Given the description of an element on the screen output the (x, y) to click on. 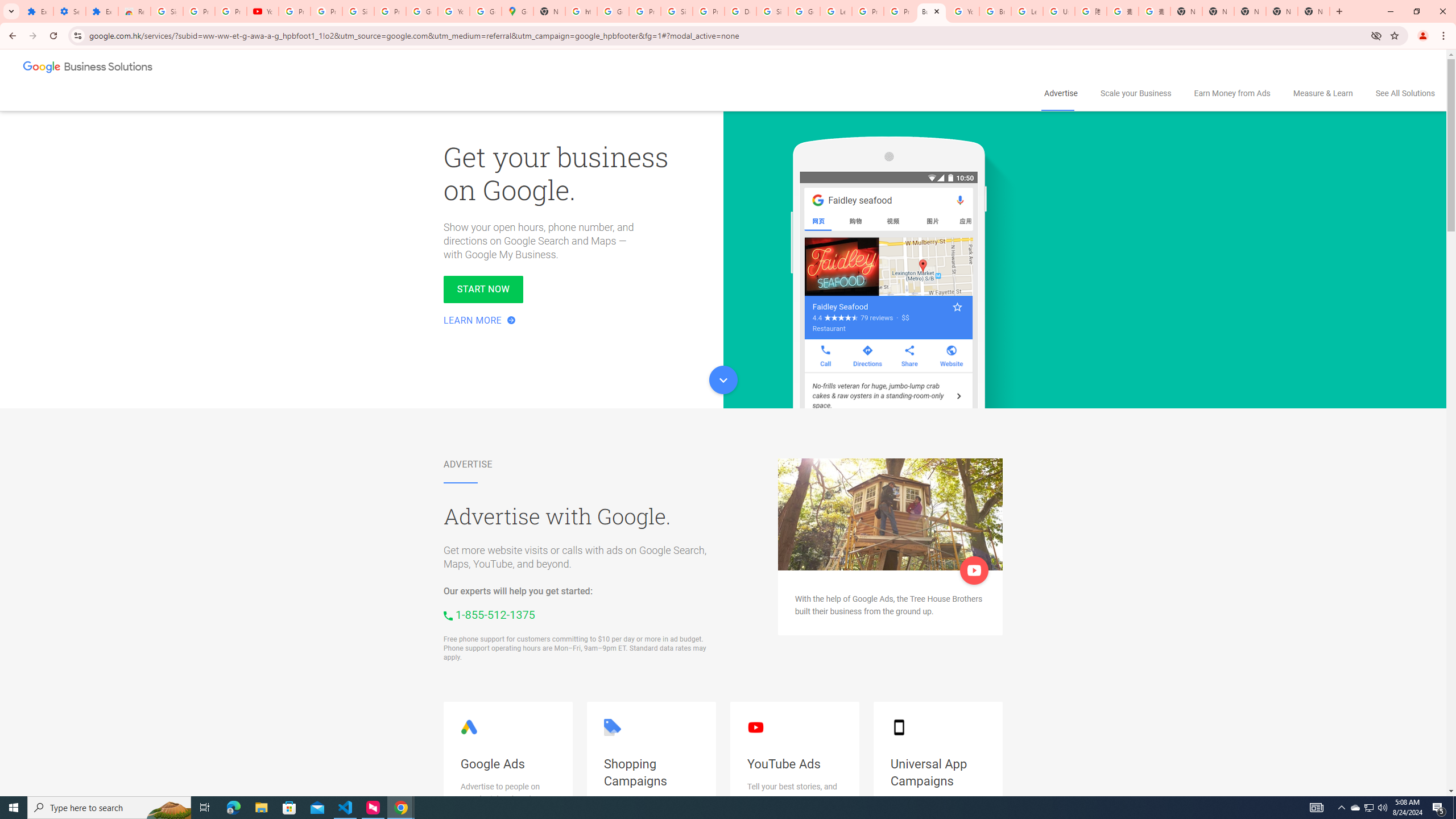
Privacy Help Center - Policies Help (868, 11)
